Given the description of an element on the screen output the (x, y) to click on. 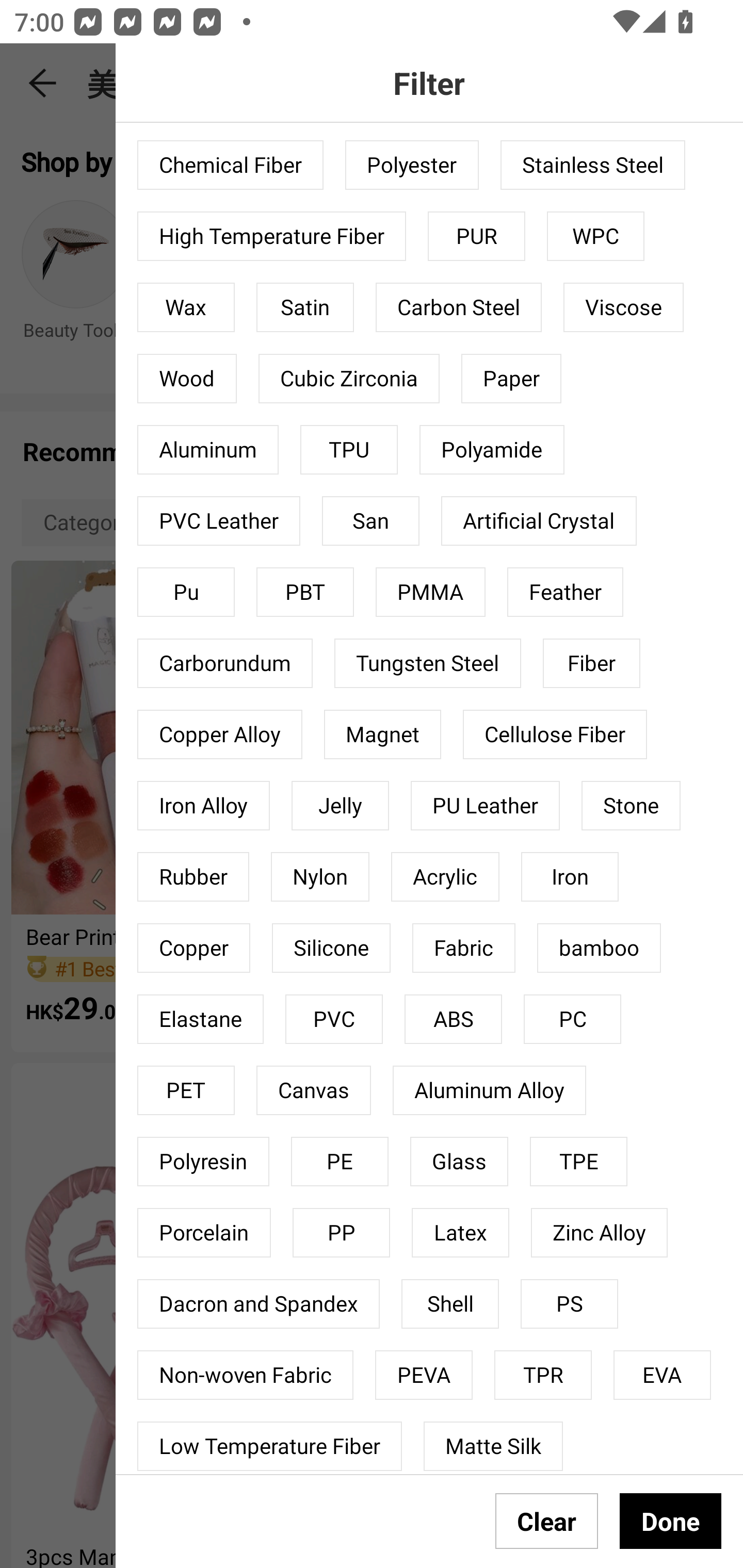
Chemical Fiber (230, 164)
Polyester (411, 164)
Stainless Steel (592, 164)
High Temperature Fiber (271, 235)
PUR (476, 235)
WPC (595, 235)
Wax (185, 307)
Satin (304, 307)
Carbon Steel (458, 307)
Viscose (623, 307)
Wood (187, 378)
Cubic Zirconia (348, 378)
Paper (511, 378)
Aluminum (207, 449)
TPU (348, 449)
Polyamide (491, 449)
PVC Leather (218, 520)
San (370, 520)
Artificial Crystal (538, 520)
Pu (185, 591)
PBT (304, 591)
PMMA (430, 591)
Feather (565, 591)
Carborundum (224, 663)
Tungsten Steel (427, 663)
Fiber (591, 663)
Copper Alloy (219, 734)
Magnet (382, 734)
Cellulose Fiber (554, 734)
Iron Alloy (203, 805)
Jelly (340, 805)
PU Leather (484, 805)
Stone (630, 805)
Rubber (192, 876)
Nylon (320, 876)
Acrylic (444, 876)
Iron (569, 876)
Copper (193, 947)
Silicone (330, 947)
Fabric (463, 947)
bamboo (599, 947)
Elastane (200, 1019)
PVC (333, 1019)
ABS (453, 1019)
PC (572, 1019)
PET (185, 1090)
Canvas (313, 1090)
Aluminum Alloy (489, 1090)
Polyresin (202, 1161)
PE (339, 1161)
Glass (459, 1161)
TPE (578, 1161)
Porcelain (204, 1232)
PP (341, 1232)
Latex (459, 1232)
Zinc Alloy (599, 1232)
Dacron and Spandex (258, 1303)
Shell (450, 1303)
PS (569, 1303)
Non-woven Fabric (245, 1375)
PEVA (423, 1375)
TPR (543, 1375)
EVA (662, 1375)
Low Temperature Fiber (269, 1446)
Matte Silk (493, 1446)
Clear (546, 1520)
Done (670, 1520)
